Given the description of an element on the screen output the (x, y) to click on. 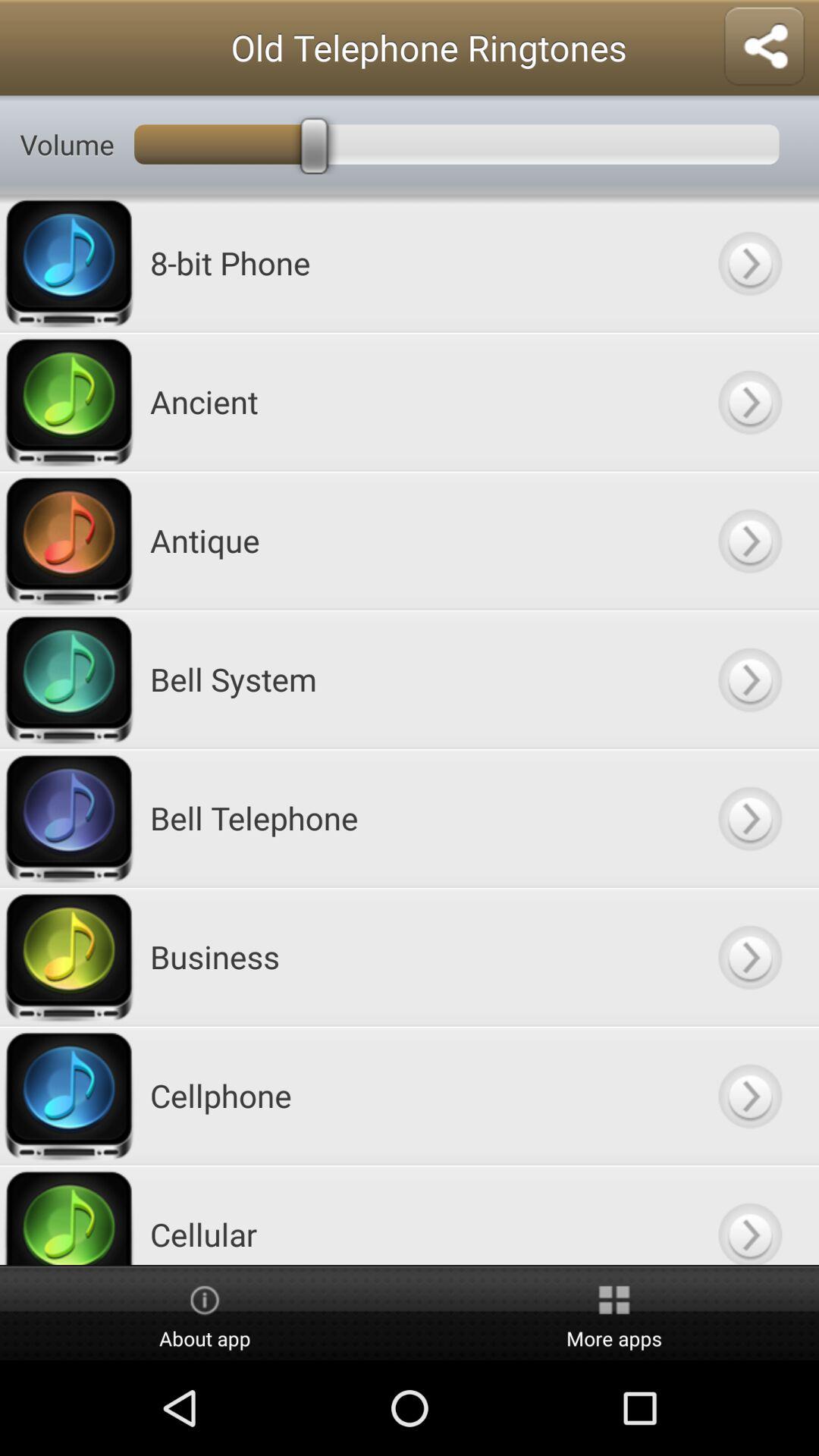
open button (749, 679)
